Given the description of an element on the screen output the (x, y) to click on. 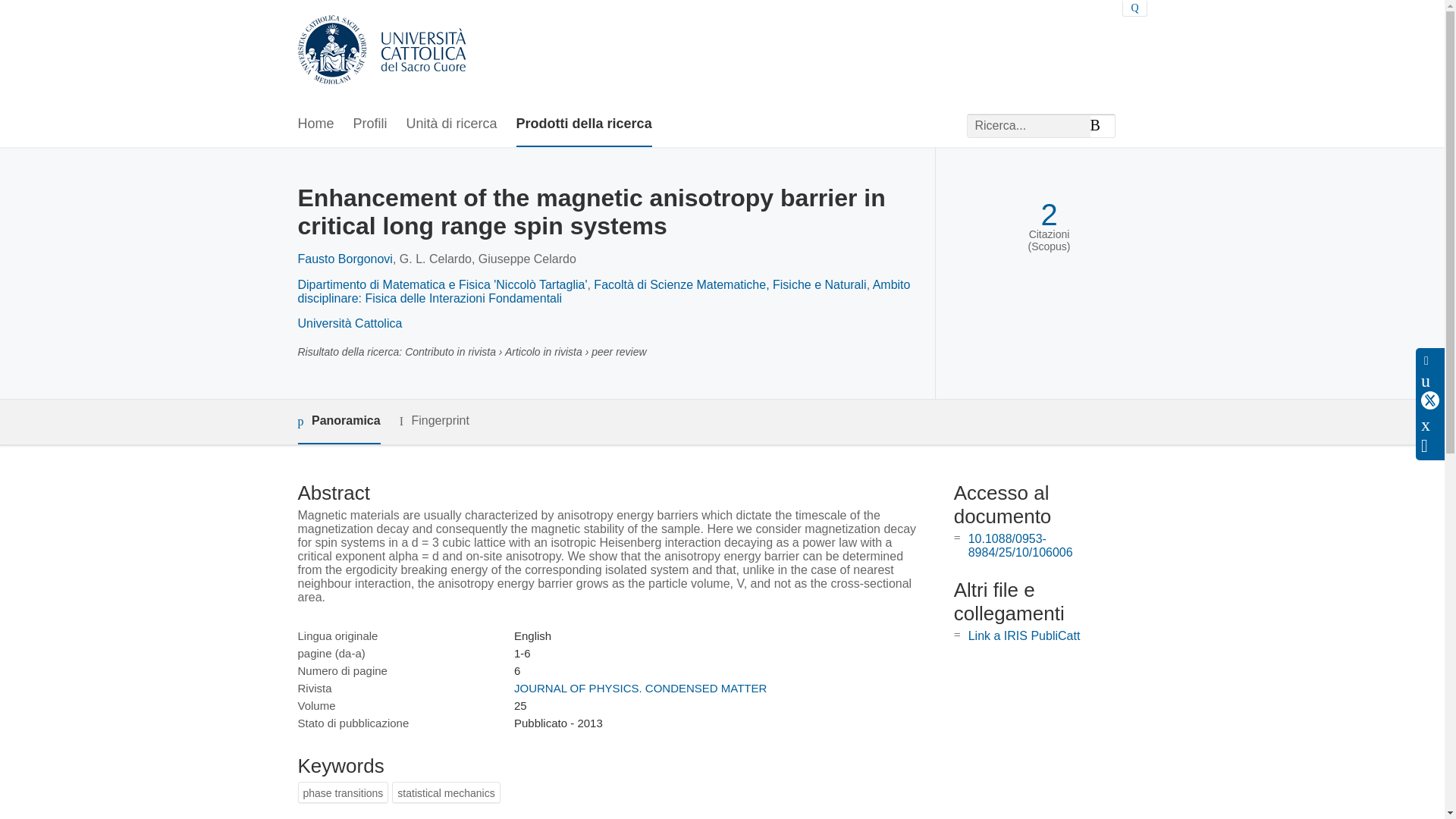
Link a IRIS PubliCatt (1024, 635)
PubliRES - Publications, Research, Expertise and Skills Home (380, 50)
Ambito disciplinare: Fisica delle Interazioni Fondamentali (603, 291)
Fingerprint (433, 421)
JOURNAL OF PHYSICS. CONDENSED MATTER (640, 687)
Prodotti della ricerca (584, 124)
Panoramica (338, 421)
Fausto Borgonovi (344, 258)
